Given the description of an element on the screen output the (x, y) to click on. 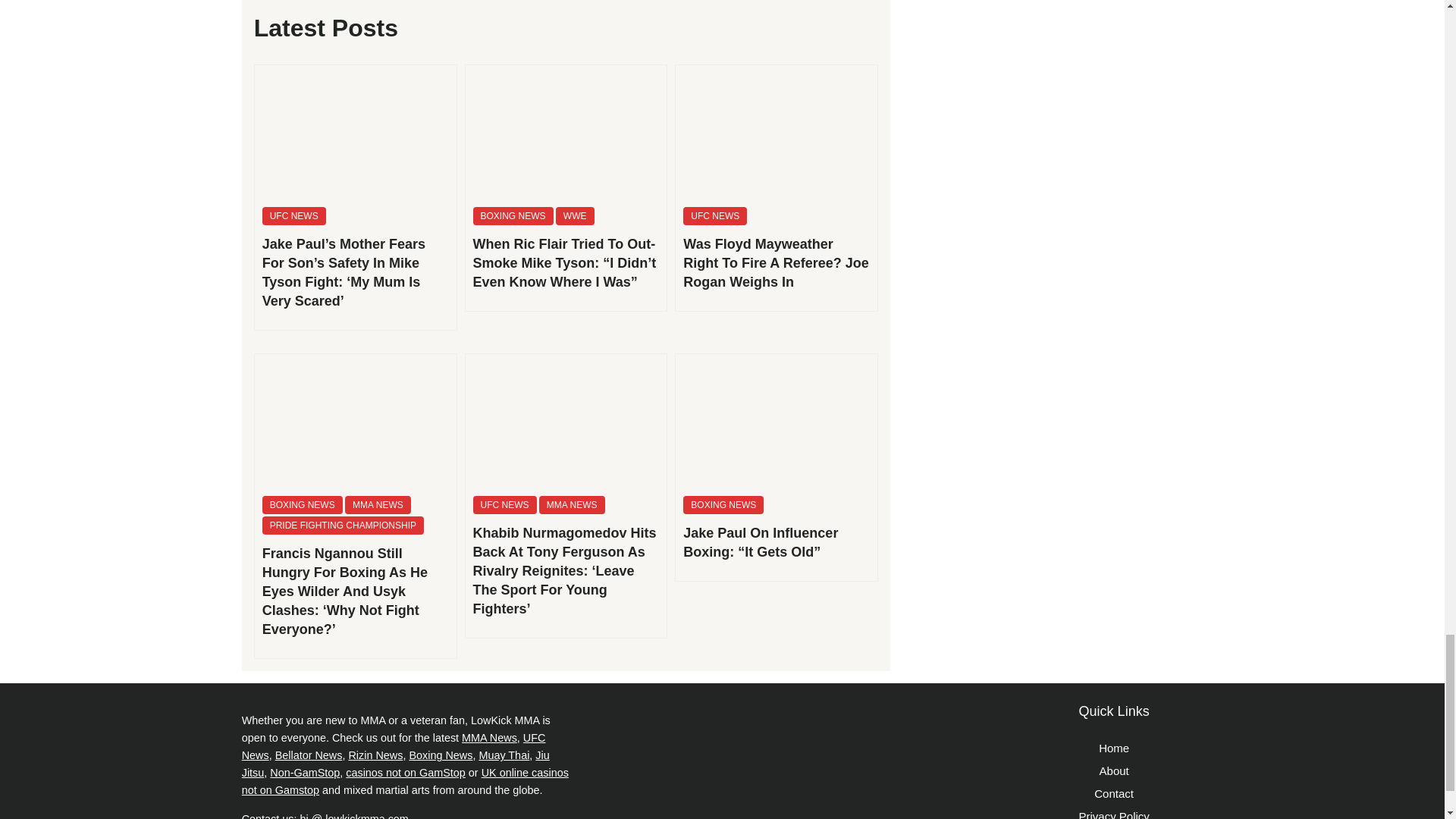
Jake Paul on Influencer Boxing: "It Gets Old" 7 (776, 420)
